Given the description of an element on the screen output the (x, y) to click on. 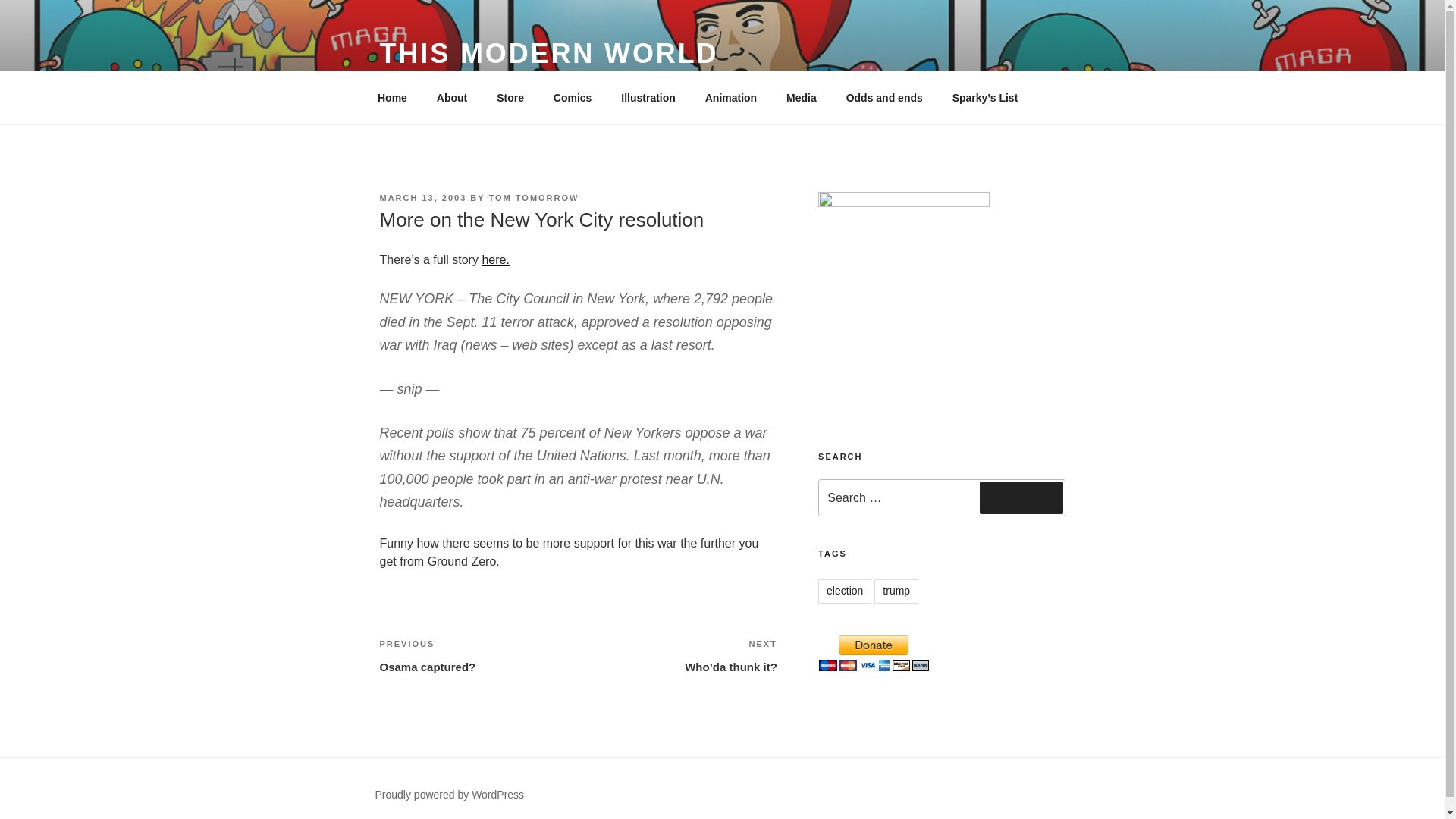
THIS MODERN WORLD (478, 656)
Proudly powered by WordPress (547, 52)
election (449, 794)
Store (844, 591)
Media (510, 97)
here. (801, 97)
MARCH 13, 2003 (494, 259)
trump (421, 197)
Illustration (896, 591)
Odds and ends (648, 97)
Home (884, 97)
Search (392, 97)
Animation (1020, 497)
TOM TOMORROW (730, 97)
